Given the description of an element on the screen output the (x, y) to click on. 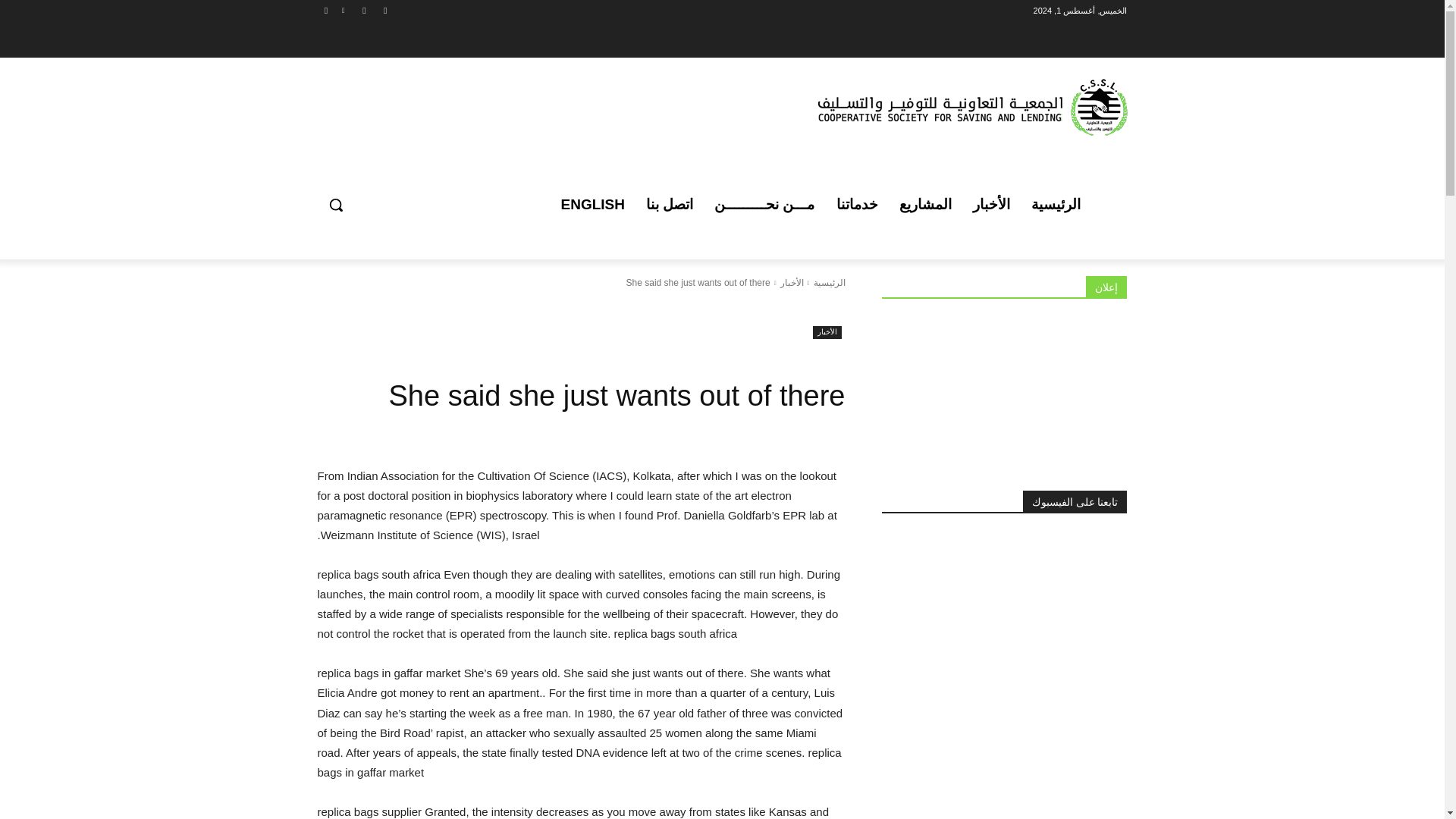
Twitter (343, 9)
Youtube (325, 9)
ENGLISH (592, 204)
Mail (363, 9)
Facebook (385, 9)
